Given the description of an element on the screen output the (x, y) to click on. 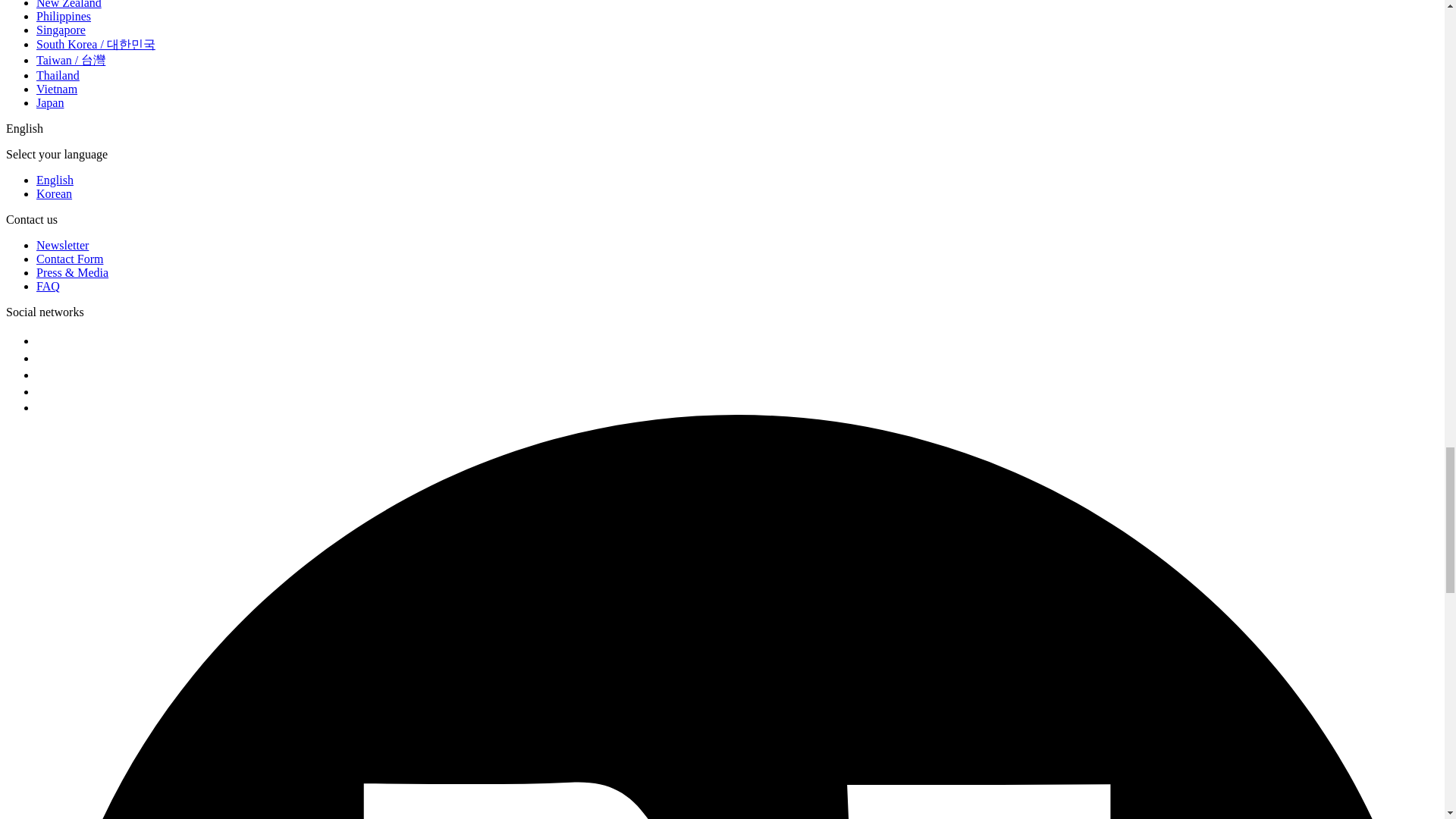
Youtube Created with sketchtool. (45, 404)
LinkedIn Created with sketchtool. (42, 388)
Facebook Created with sketchtool. (42, 372)
Instagram Created with sketchtool. (42, 337)
